Given the description of an element on the screen output the (x, y) to click on. 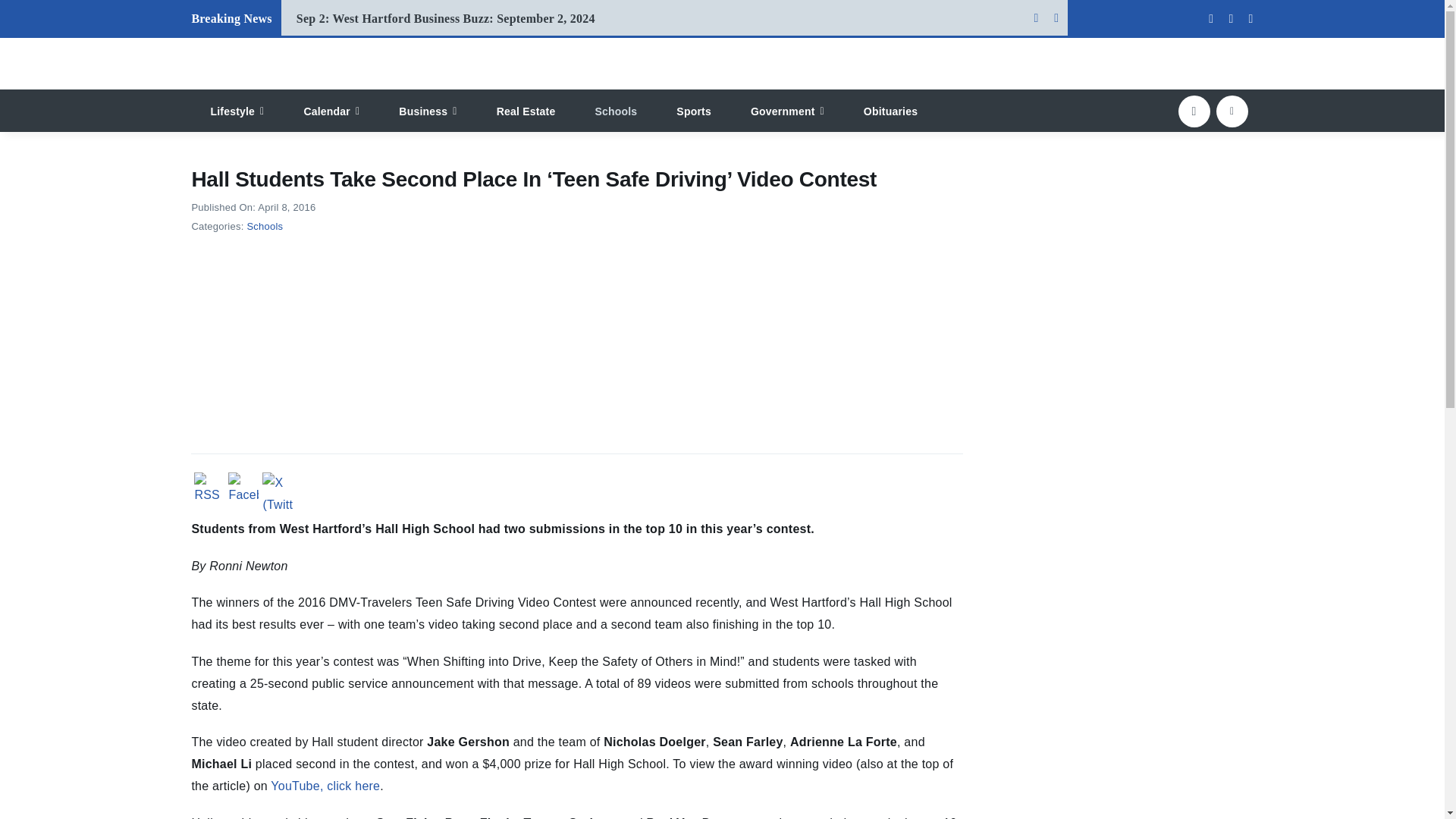
Real Estate (526, 110)
Schools (615, 110)
Business (428, 110)
Sep 2: West Hartford Business Buzz: September 2, 2024 (446, 18)
RSS (208, 489)
Government (787, 110)
Lifestyle (236, 110)
Sports (694, 110)
Calendar (330, 110)
